Given the description of an element on the screen output the (x, y) to click on. 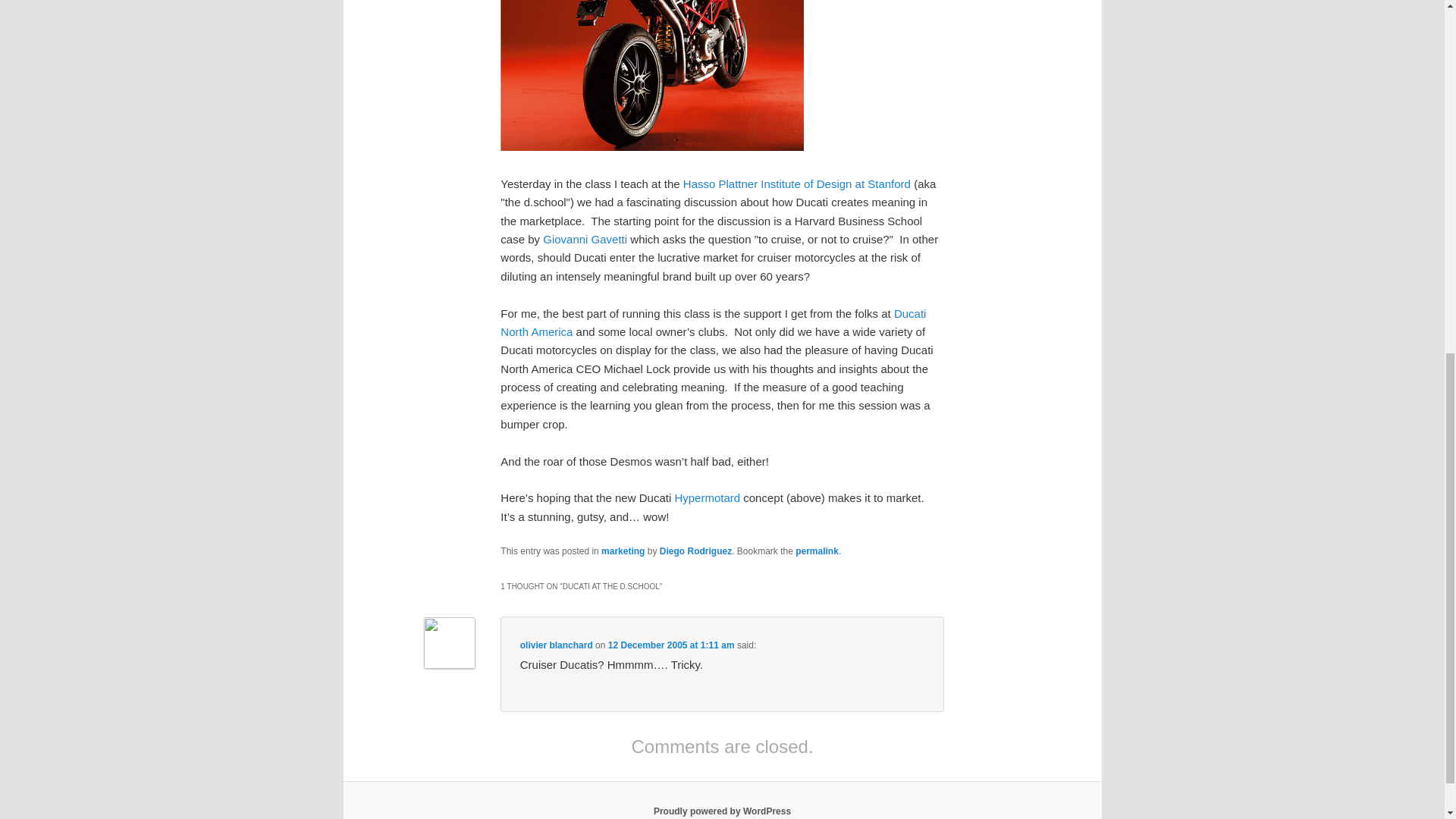
Hasso Plattner Institute of Design at Stanford (796, 183)
Proudly powered by WordPress (721, 810)
Ducati North America (713, 322)
Permalink to Ducati at the d.school (816, 551)
Diego Rodriguez (695, 551)
Semantic Personal Publishing Platform (721, 810)
marketing (623, 551)
12 December 2005 at 1:11 am (671, 644)
olivier blanchard (555, 644)
Giovanni Gavetti (585, 238)
